Given the description of an element on the screen output the (x, y) to click on. 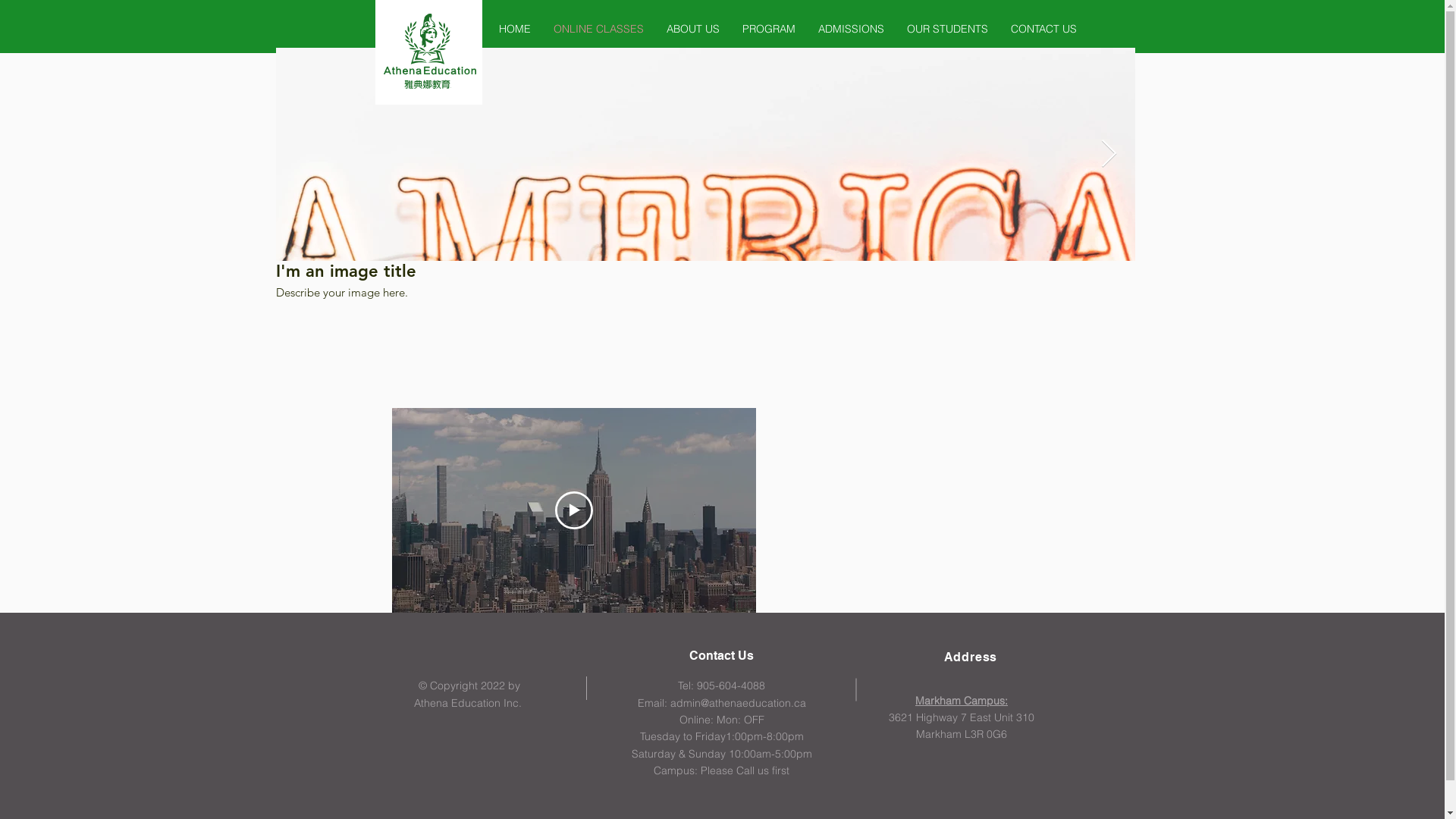
ABOUT US Element type: text (693, 28)
admin@athenaeducation.ca Element type: text (738, 702)
CONTACT US Element type: text (1043, 28)
PROGRAM Element type: text (768, 28)
ADMISSIONS Element type: text (850, 28)
ONLINE CLASSES Element type: text (598, 28)
HOME Element type: text (514, 28)
OUR STUDENTS Element type: text (947, 28)
